Given the description of an element on the screen output the (x, y) to click on. 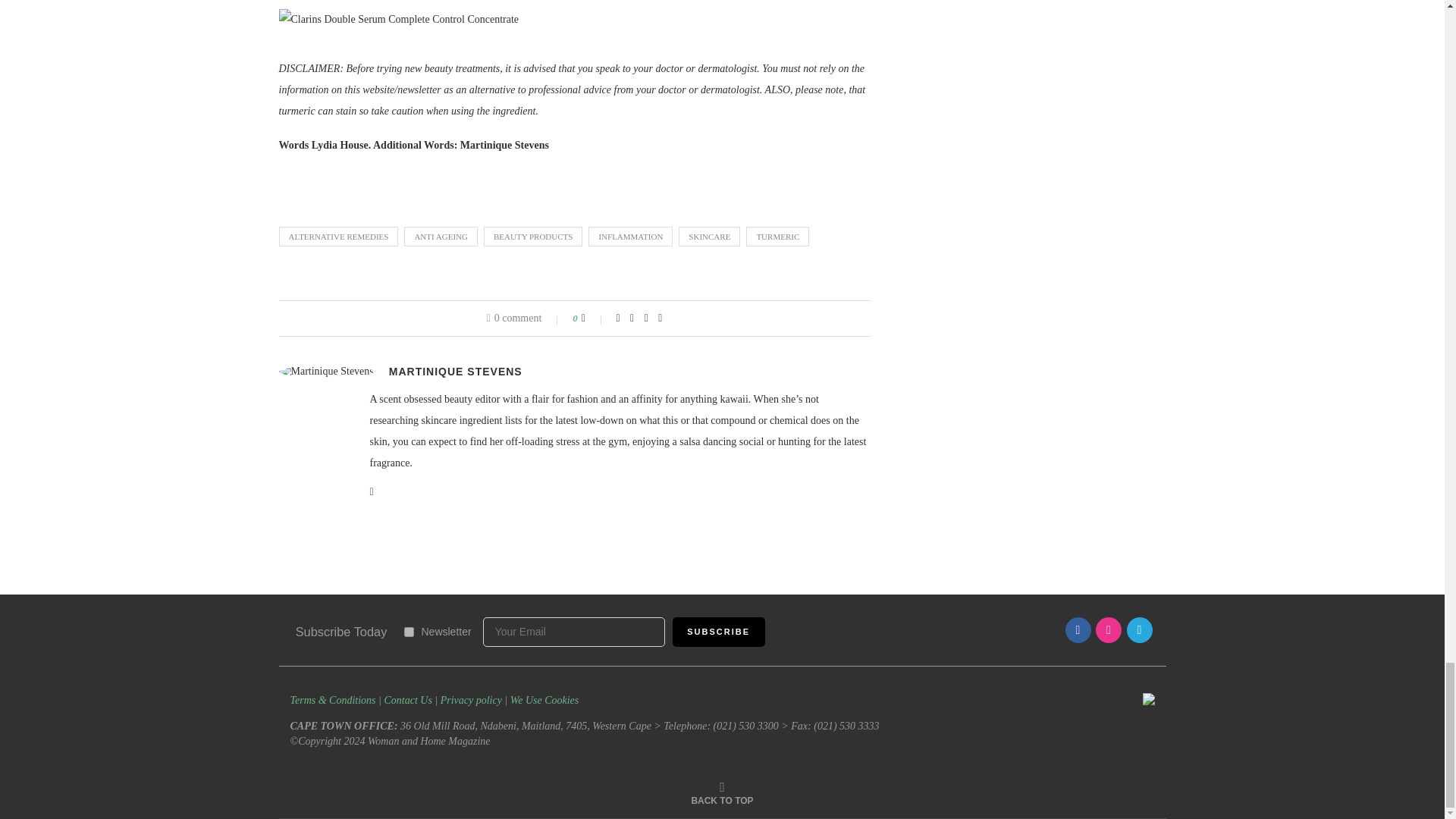
Posts by Martinique Stevens (455, 371)
19087 (408, 632)
Like (592, 318)
Subscribe (718, 632)
